Given the description of an element on the screen output the (x, y) to click on. 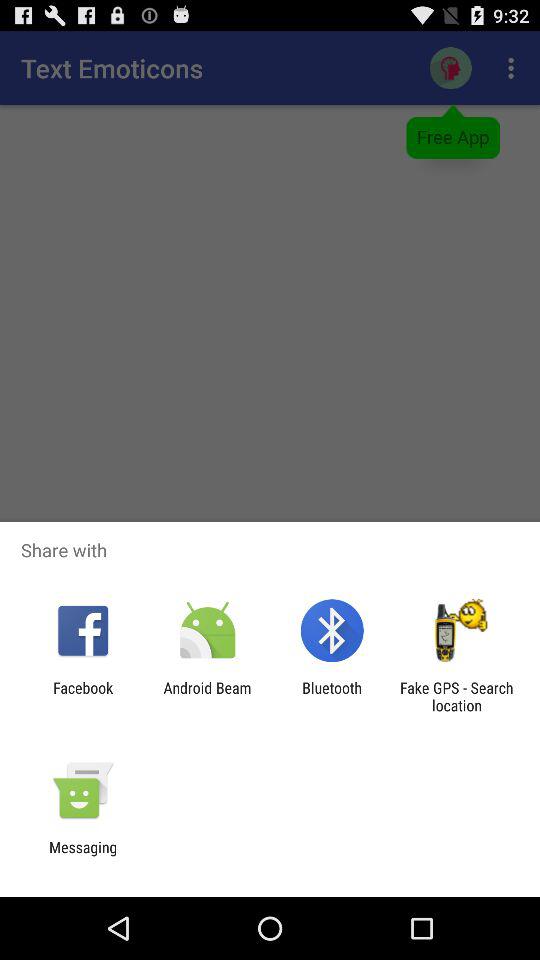
flip until the messaging icon (83, 856)
